Given the description of an element on the screen output the (x, y) to click on. 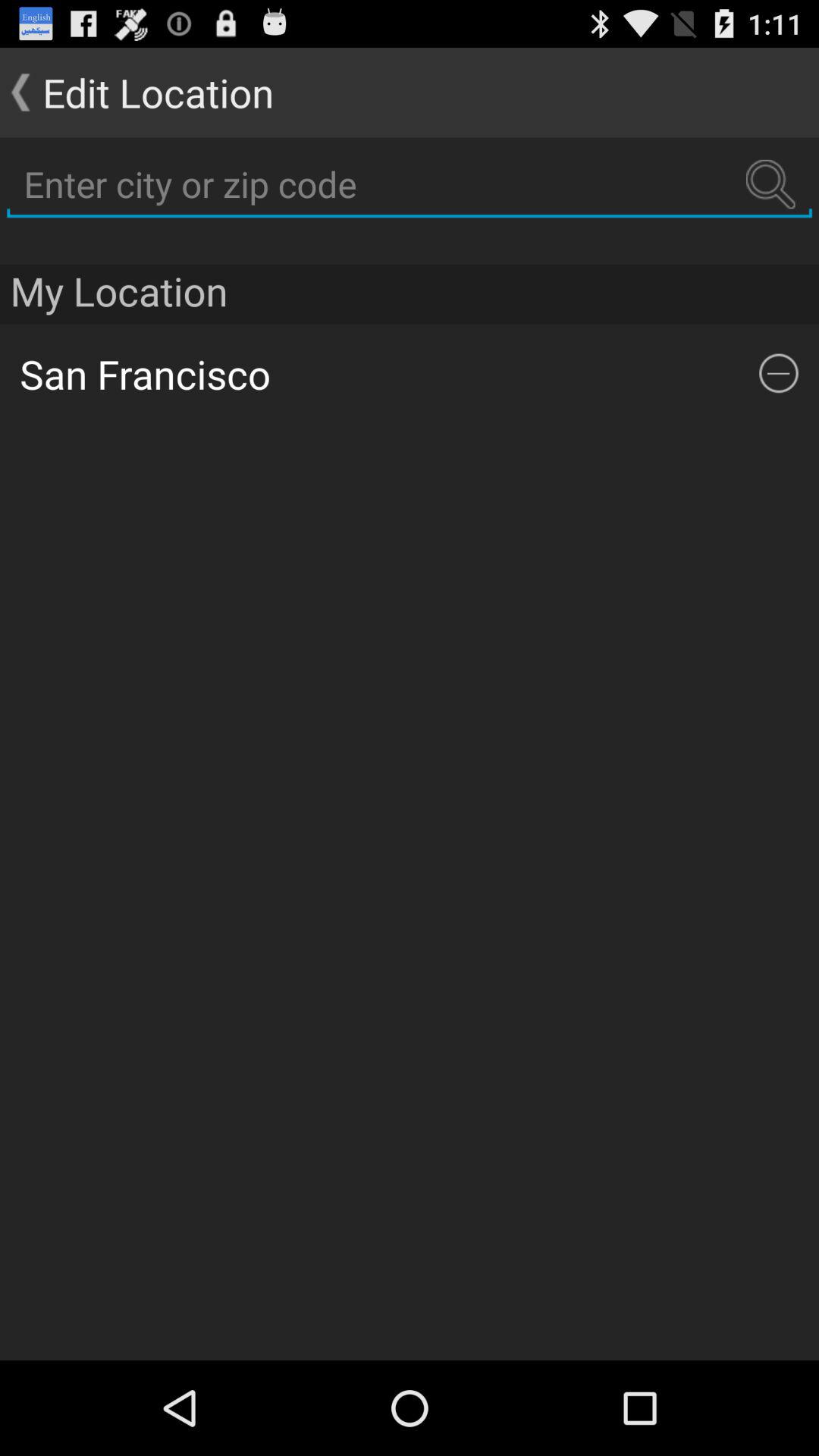
jump until the edit location button (137, 91)
